Given the description of an element on the screen output the (x, y) to click on. 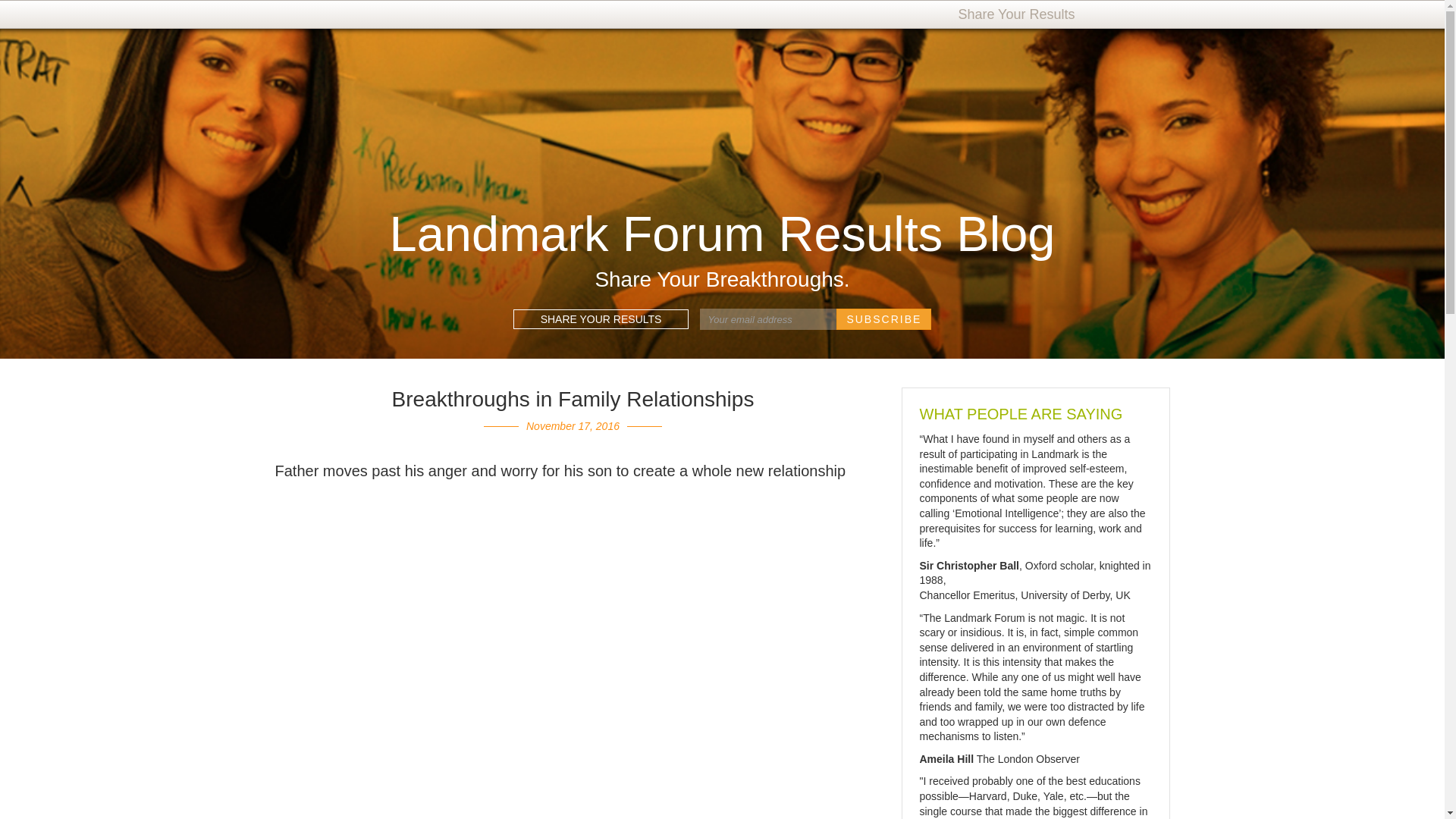
Subscribe (883, 319)
Share Your Results (1017, 13)
SHARE YOUR RESULTS (600, 319)
Subscribe (883, 319)
